Given the description of an element on the screen output the (x, y) to click on. 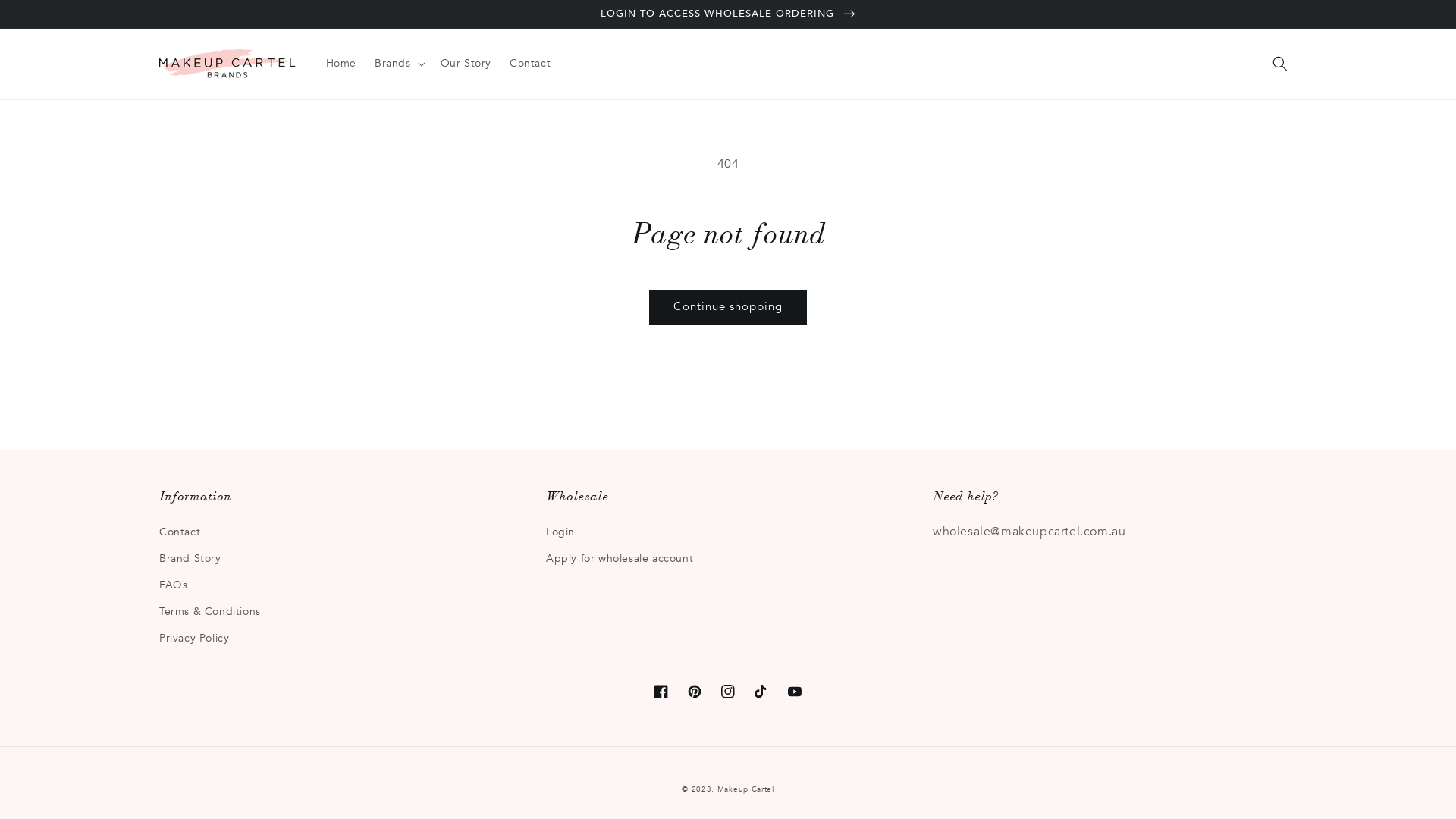
Terms & Conditions Element type: text (209, 611)
Our Story Element type: text (465, 63)
Apply for wholesale account Element type: text (619, 558)
Login Element type: text (560, 533)
wholesale@makeupcartel.com.au Element type: text (1028, 531)
Contact Element type: text (179, 533)
Makeup Cartel Element type: text (745, 789)
FAQs Element type: text (173, 584)
Pinterest Element type: text (694, 691)
Privacy Policy Element type: text (194, 637)
Brand Story Element type: text (190, 558)
TikTok Element type: text (761, 691)
Contact Element type: text (529, 63)
Facebook Element type: text (660, 691)
Continue shopping Element type: text (727, 307)
YouTube Element type: text (794, 691)
Home Element type: text (340, 63)
Instagram Element type: text (727, 691)
